Given the description of an element on the screen output the (x, y) to click on. 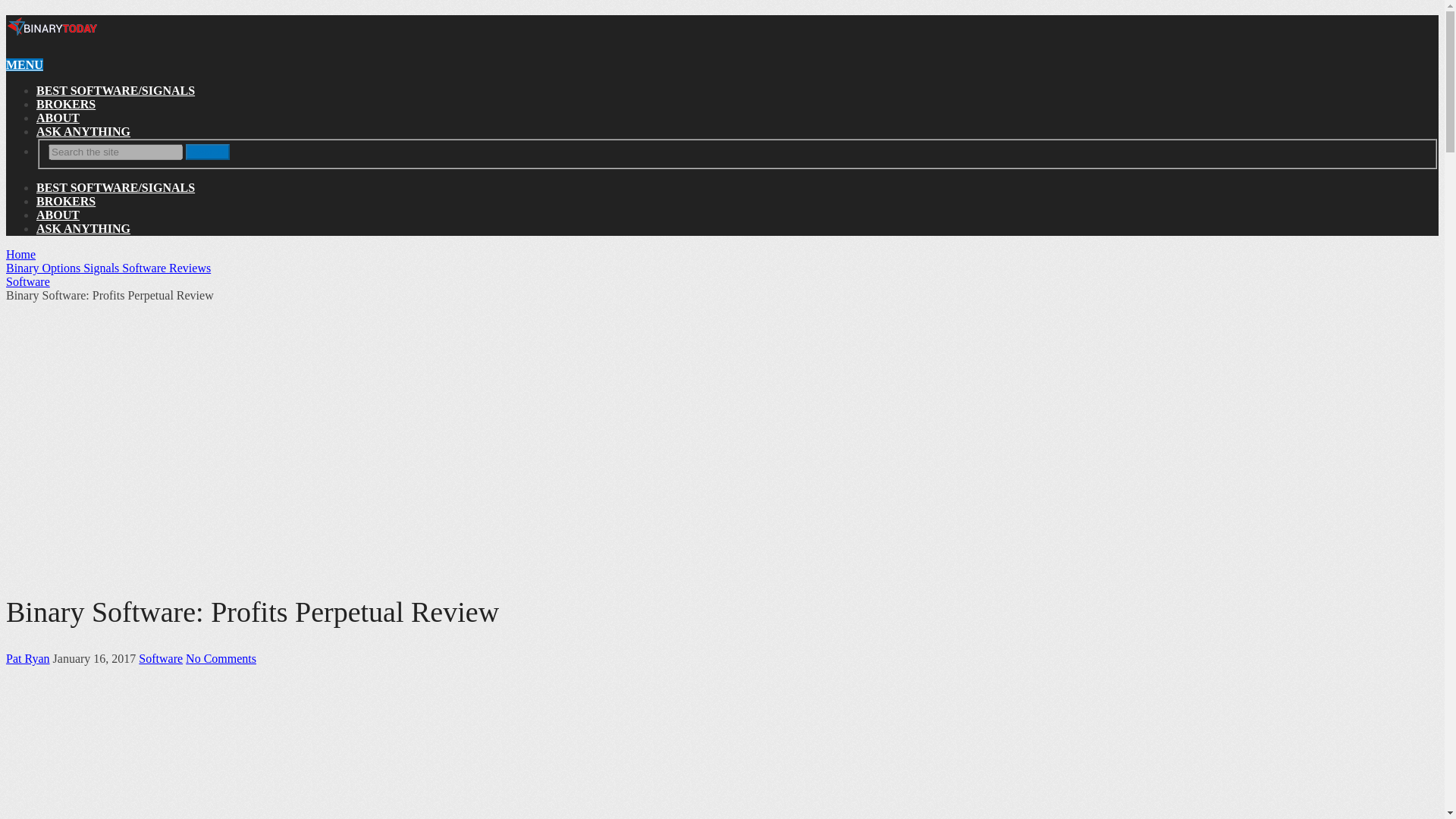
View all posts in Software (160, 658)
MENU (24, 64)
Home (19, 254)
Pat Ryan (27, 658)
No Comments (221, 658)
ASK ANYTHING (83, 228)
Binary Options Signals Software Reviews (108, 267)
ASK ANYTHING (83, 131)
BROKERS (66, 103)
Posts by Pat Ryan (27, 658)
